Given the description of an element on the screen output the (x, y) to click on. 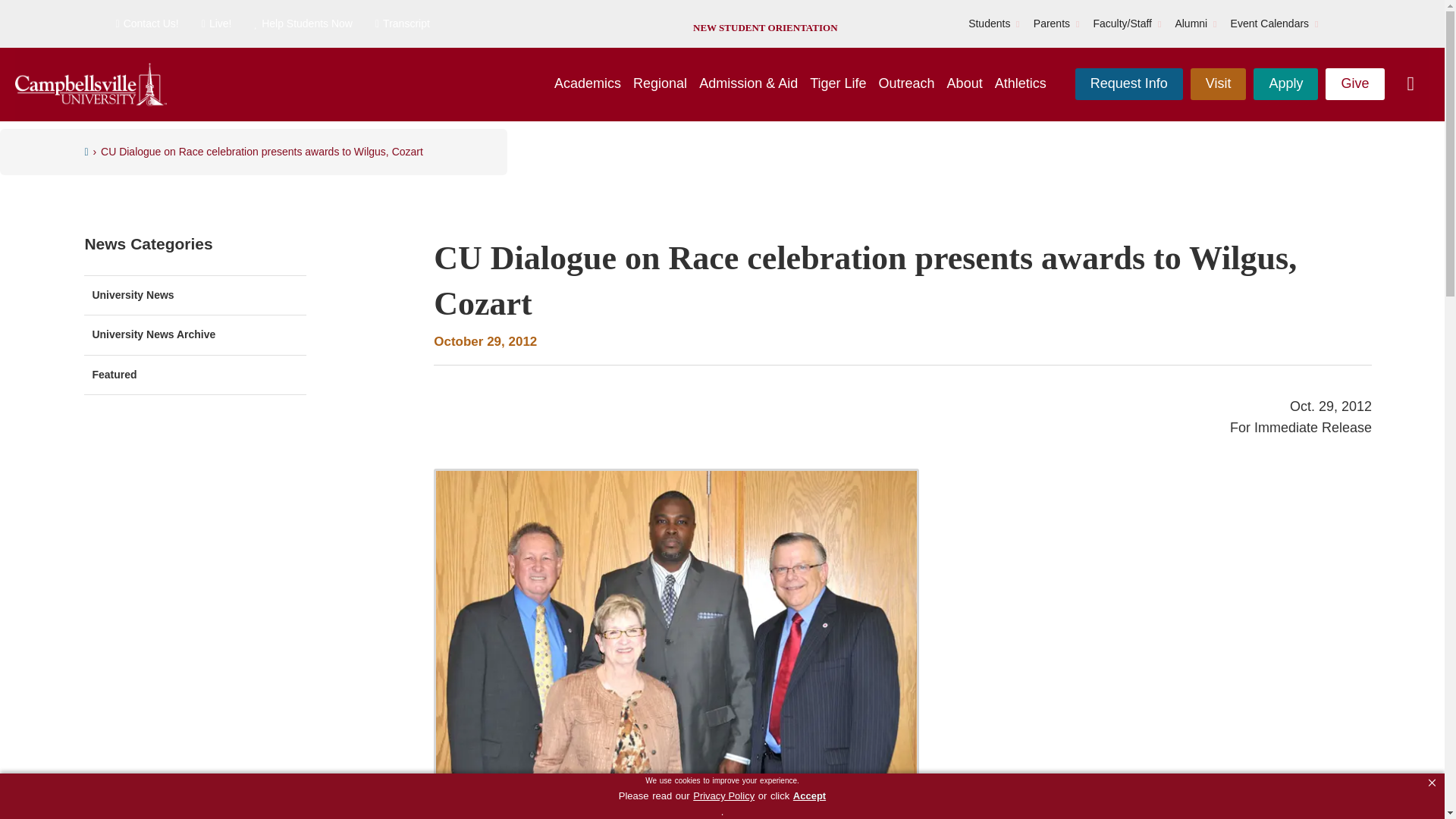
Privacy Policy (723, 796)
Campbellsville University Logo (90, 84)
Transcript (402, 24)
Students (989, 24)
Contact Us! (146, 24)
Help Students Now (302, 24)
NEW STUDENT ORIENTATION (765, 27)
Parents (1051, 24)
Live! (216, 24)
Accept (809, 796)
